Given the description of an element on the screen output the (x, y) to click on. 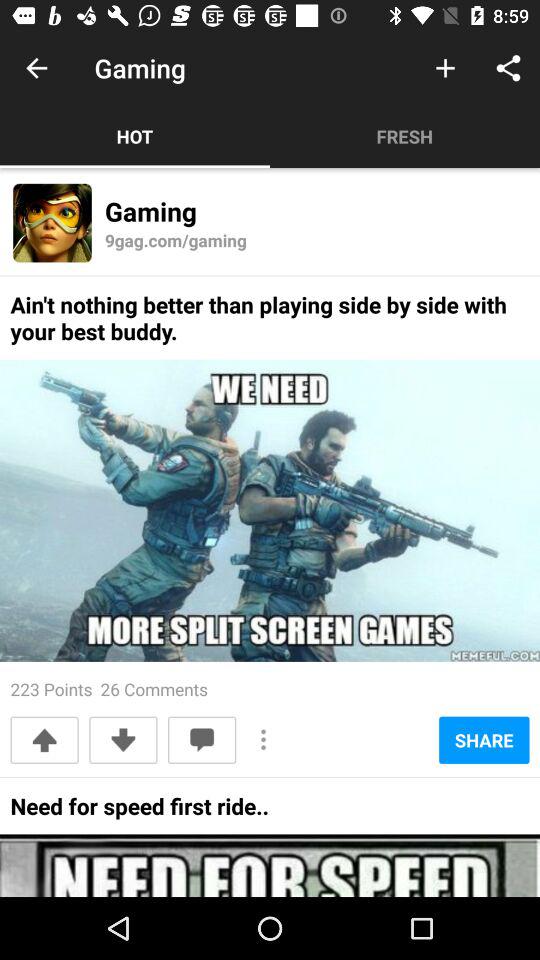
press the item below the 223 points 	26 item (44, 739)
